Given the description of an element on the screen output the (x, y) to click on. 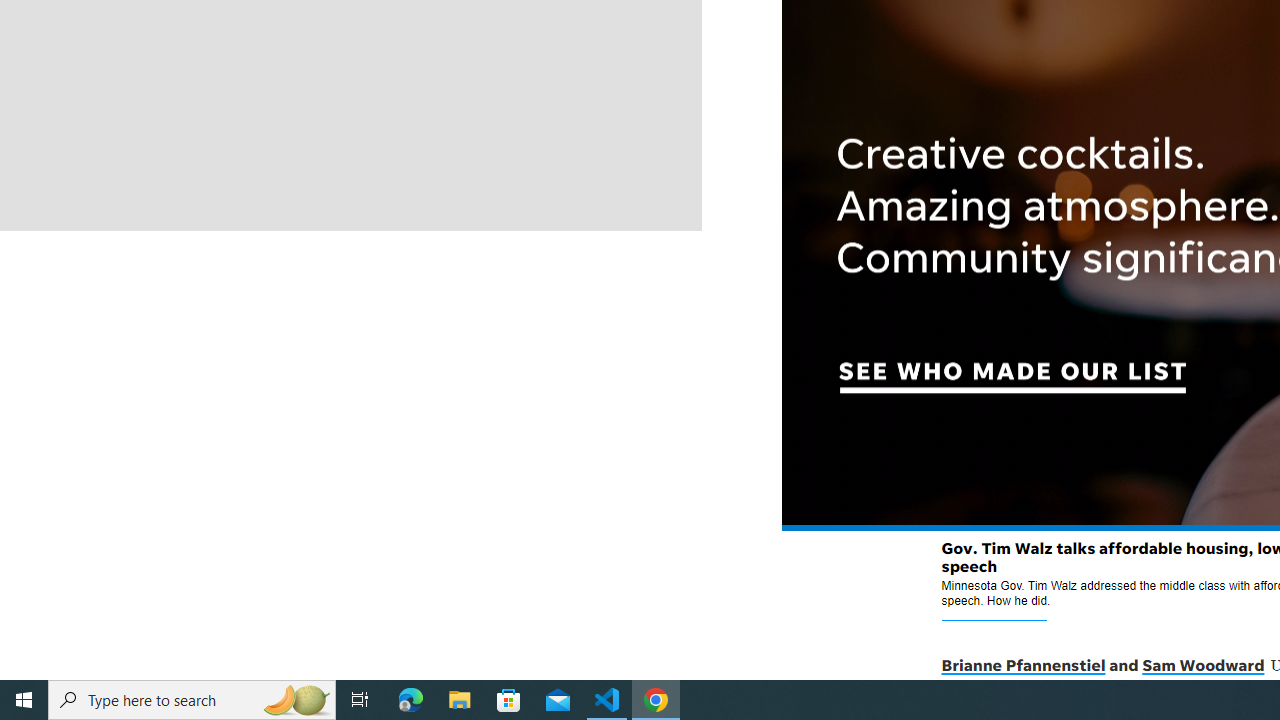
Brianne Pfannenstiel (1022, 665)
Sam Woodward (1202, 665)
